Given the description of an element on the screen output the (x, y) to click on. 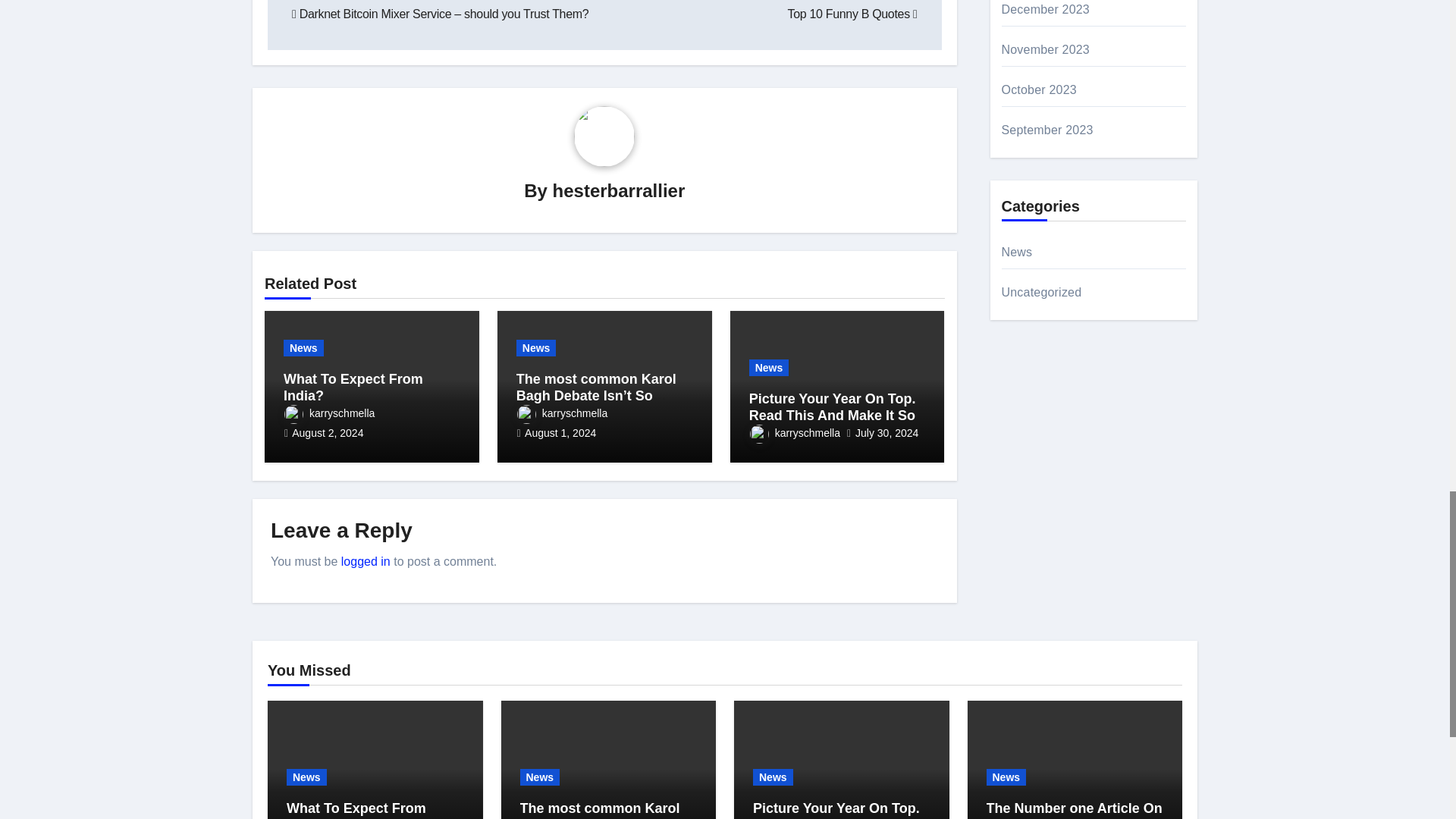
Top 10 Funny B Quotes (852, 13)
News (303, 347)
hesterbarrallier (619, 190)
Permalink to: The Number one Article On Dwarka (1073, 809)
Permalink to: What To Expect From India? (353, 387)
Permalink to: What To Expect From India? (356, 809)
What To Expect From India? (353, 387)
